Given the description of an element on the screen output the (x, y) to click on. 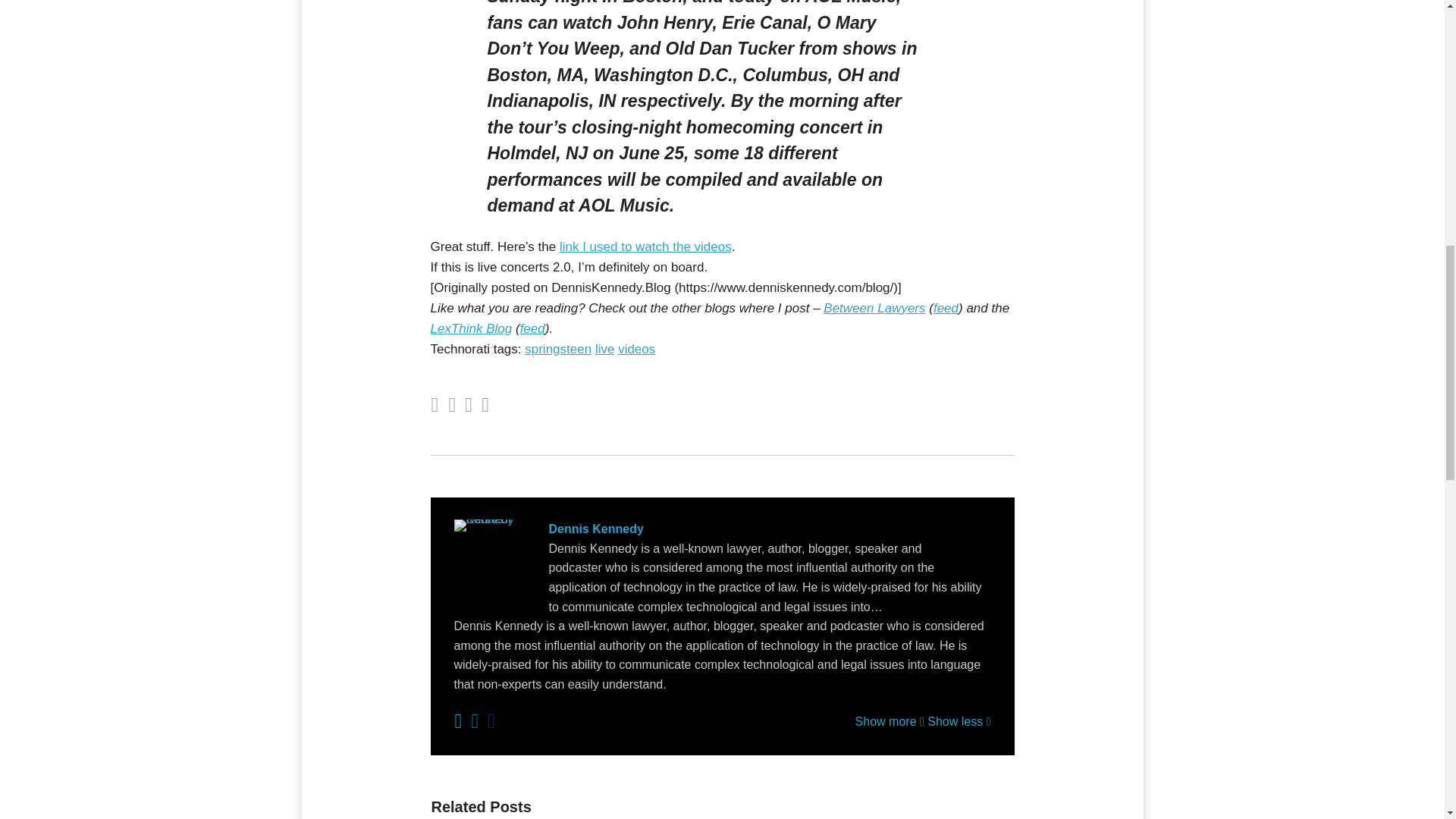
springsteen (557, 349)
link I used to watch the videos (645, 246)
Show more (890, 721)
LexThink Blog (471, 328)
Between Lawyers (874, 308)
Show less (958, 721)
Dennis Kennedy (721, 528)
live (604, 349)
feed (945, 308)
feed (531, 328)
